Given the description of an element on the screen output the (x, y) to click on. 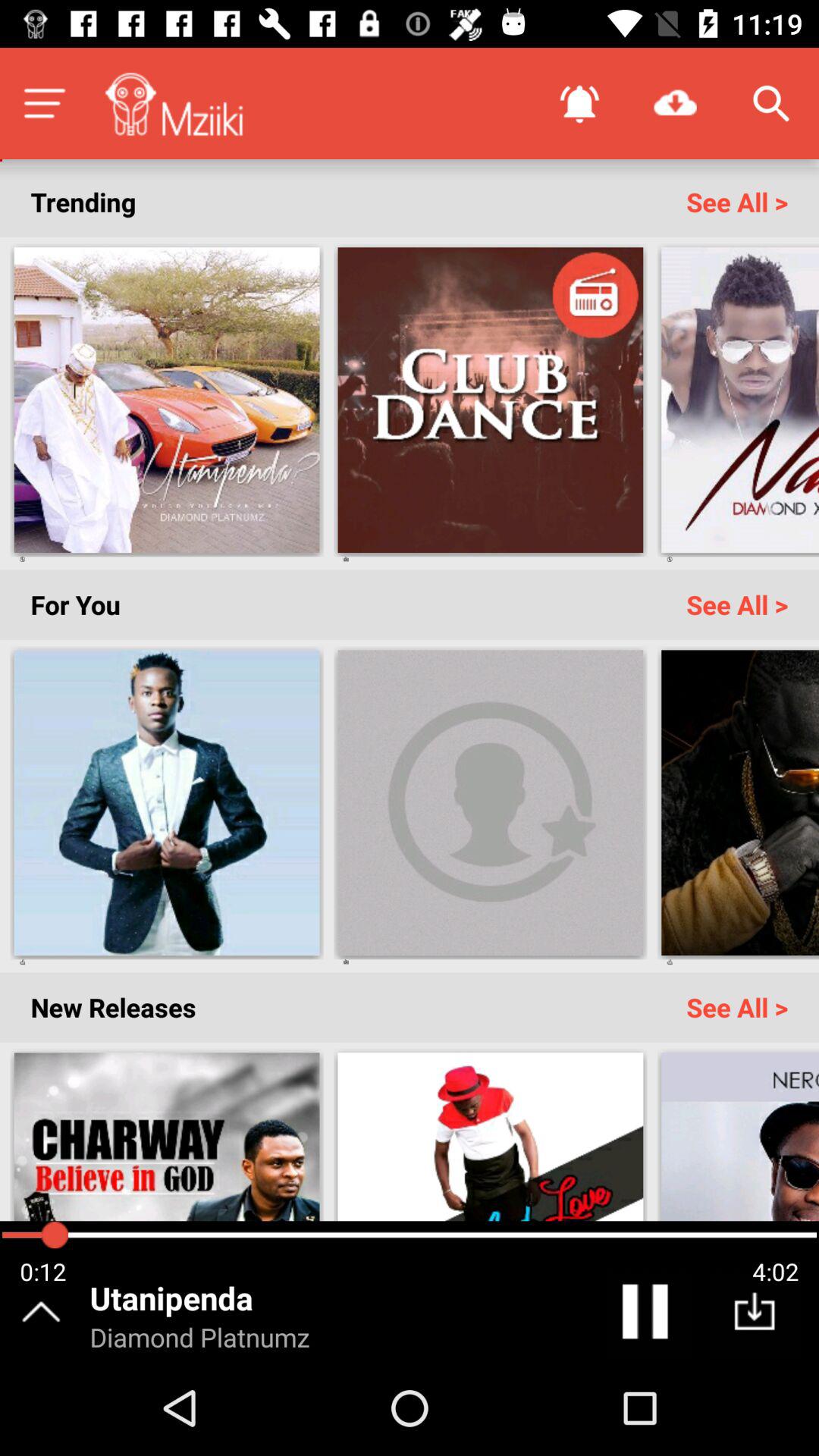
pause music (647, 1315)
